Given the description of an element on the screen output the (x, y) to click on. 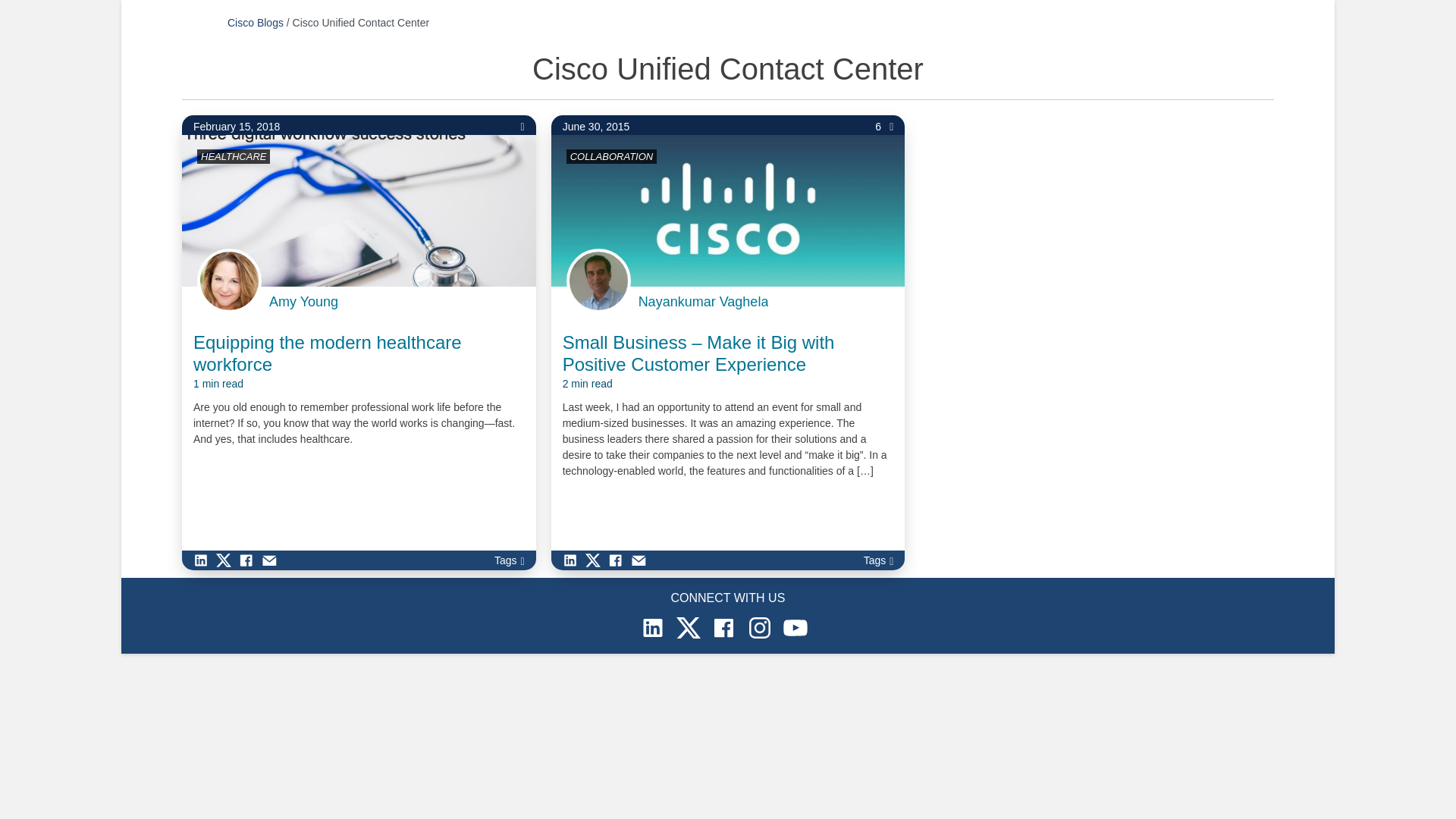
6 (884, 126)
Cisco Blogs (255, 22)
COLLABORATION (611, 156)
Posts by Amy Young (303, 302)
Posts by Nayankumar Vaghela (703, 302)
Nayankumar Vaghela (703, 302)
Equipping the modern healthcare workforce (358, 361)
Amy Young (303, 302)
HEALTHCARE (233, 156)
